Given the description of an element on the screen output the (x, y) to click on. 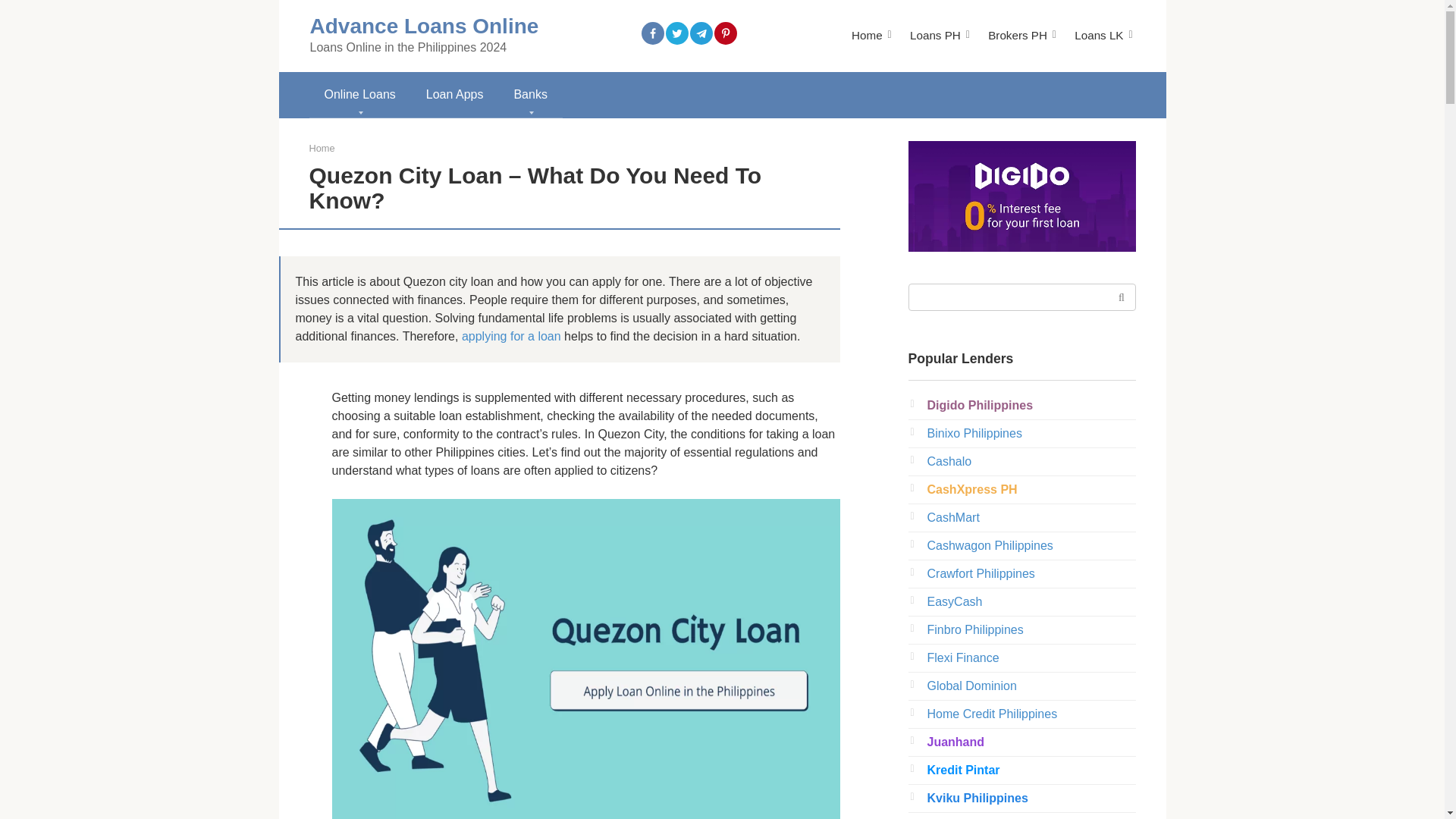
Advance Loans Online (423, 25)
Brokers PH (1017, 35)
Loans LK (1098, 35)
Loans PH (935, 35)
Home (866, 35)
